Given the description of an element on the screen output the (x, y) to click on. 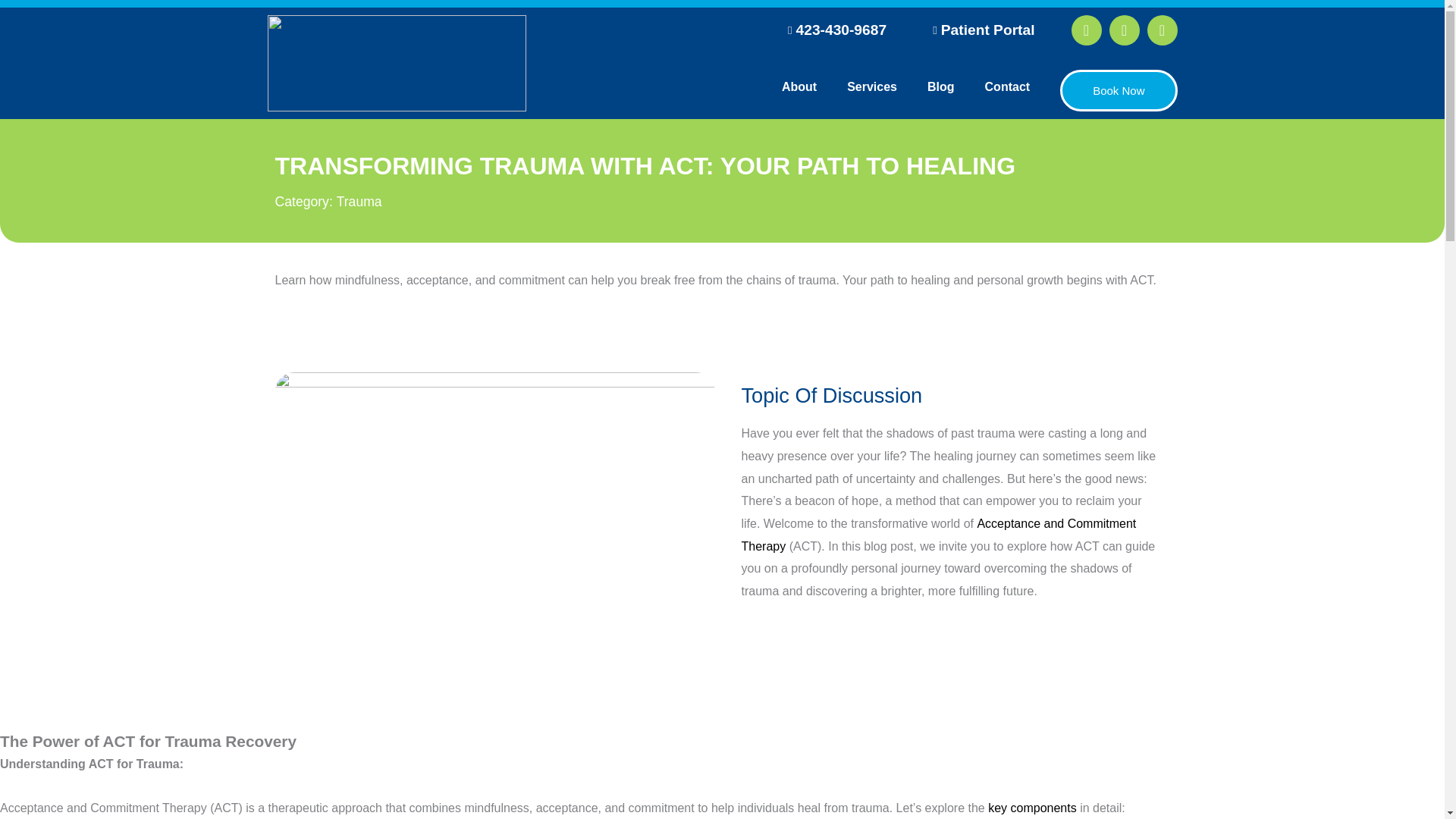
Acceptance and Commitment Therapy (939, 534)
Linkedin (1161, 30)
423-430-9687 (831, 30)
Services (871, 86)
Trauma (358, 201)
Book Now (1117, 90)
Contact (1007, 86)
Patient Portal (978, 30)
key components (1032, 807)
Facebook (1085, 30)
Blog (940, 86)
About (799, 86)
Instagram (1123, 30)
